Given the description of an element on the screen output the (x, y) to click on. 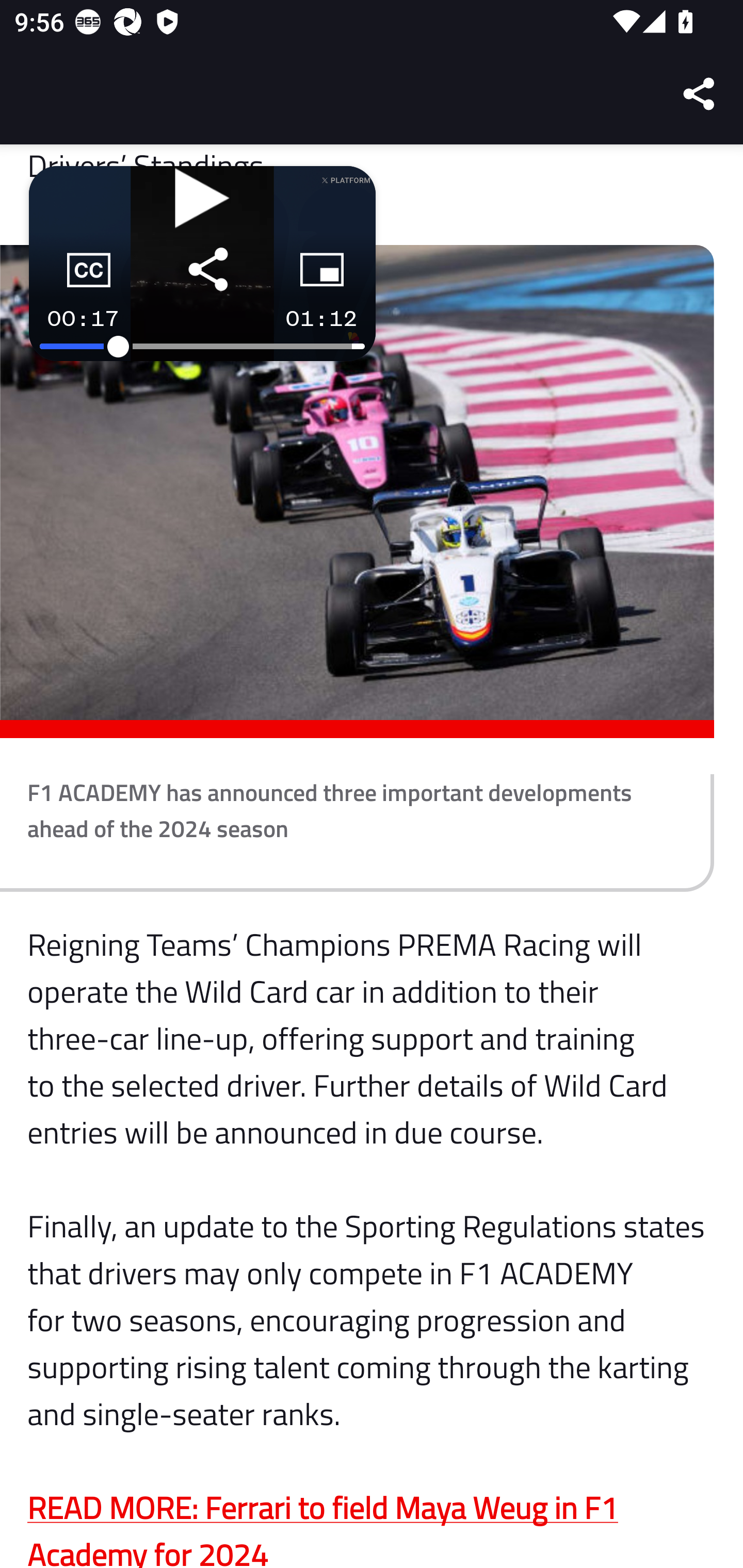
Share (699, 93)
